Given the description of an element on the screen output the (x, y) to click on. 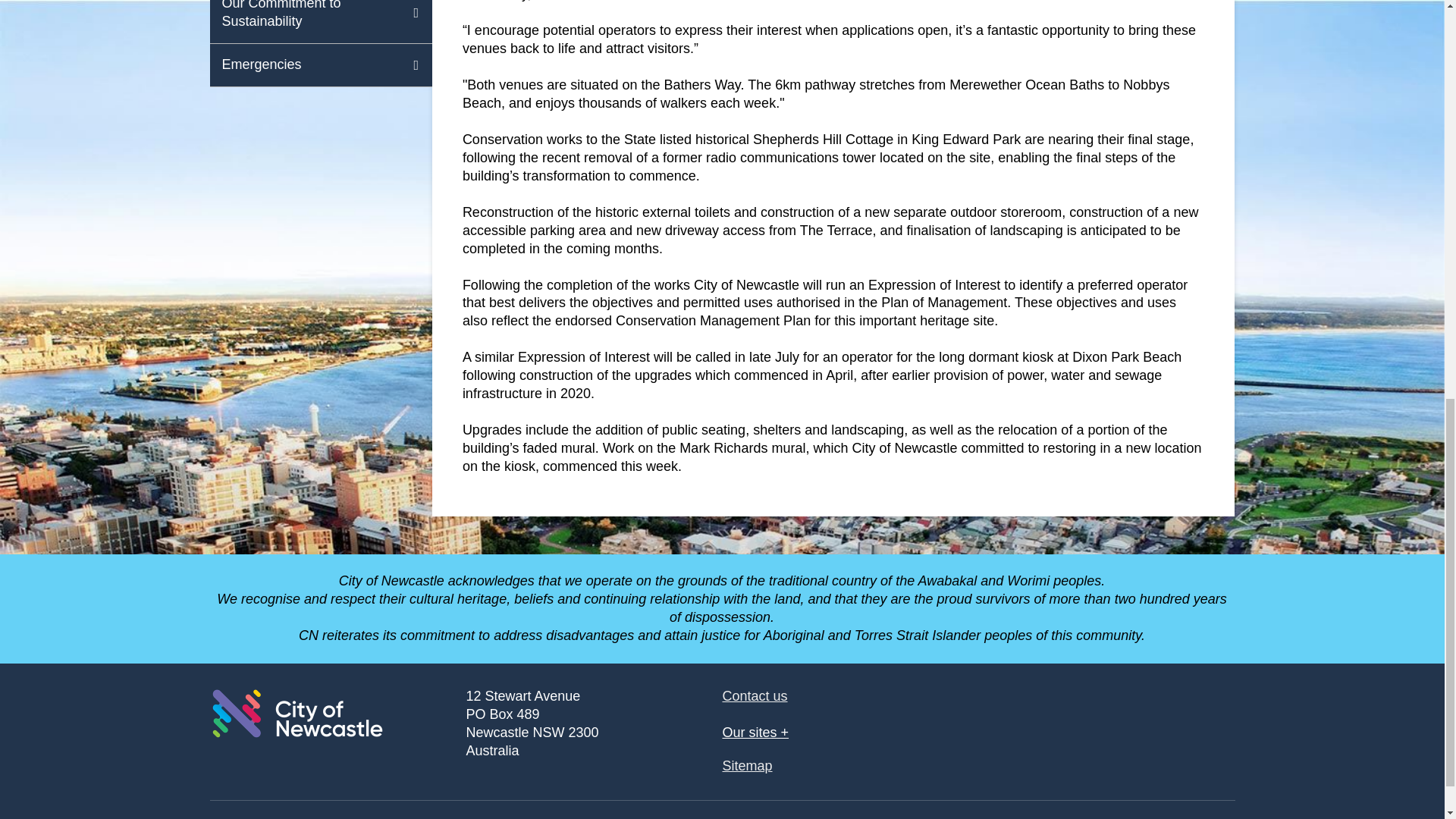
City of Newcastle (296, 713)
Facebook (1085, 714)
Instagram (1206, 714)
Twitter (1146, 714)
